Given the description of an element on the screen output the (x, y) to click on. 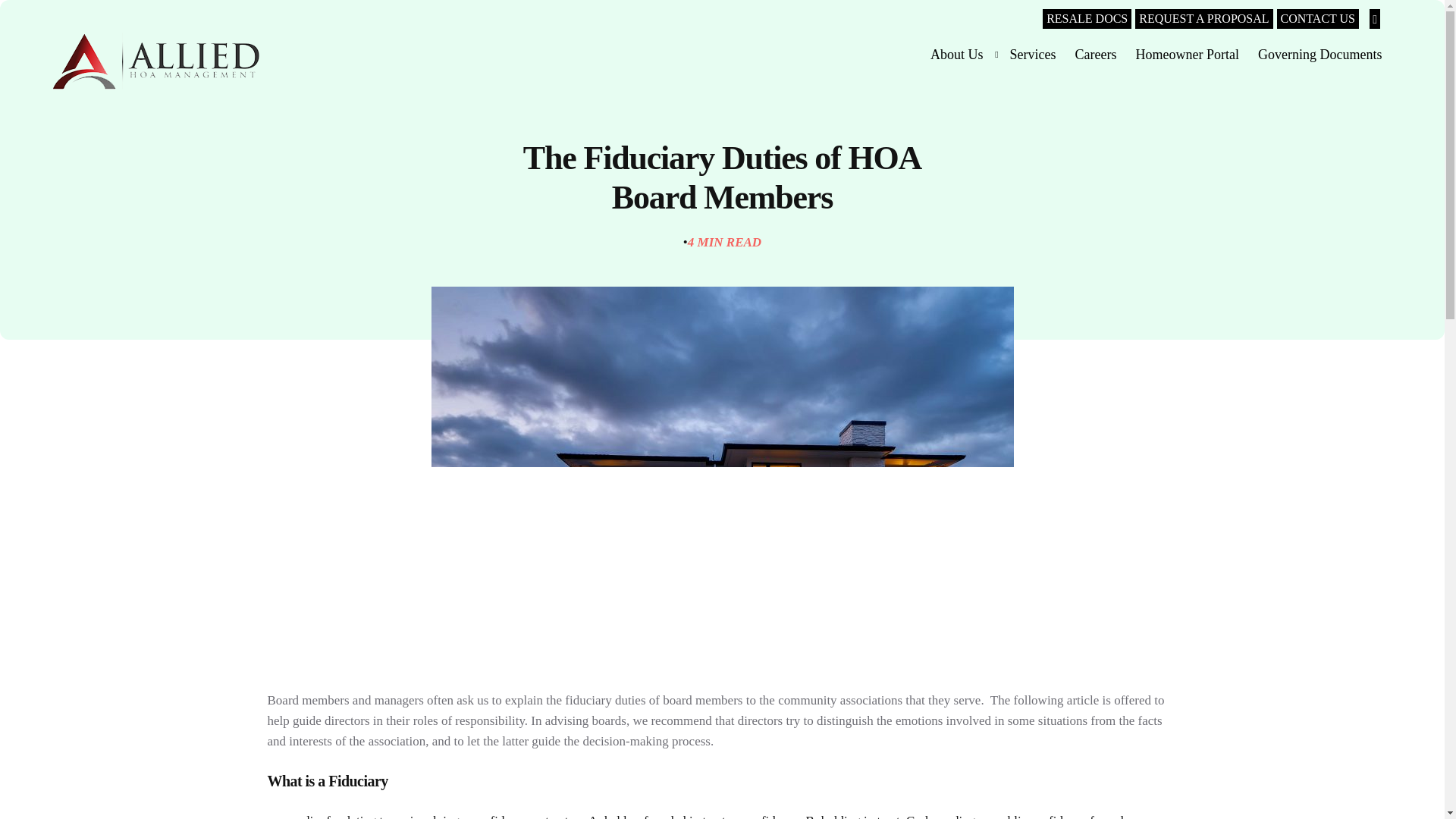
Homeowner Portal (1186, 53)
Governing Documents (1320, 53)
Careers (1095, 53)
RESALE DOCS (1086, 18)
CONTACT US (1317, 18)
REQUEST A PROPOSAL (1203, 18)
Services (1032, 53)
About Us (961, 53)
